Given the description of an element on the screen output the (x, y) to click on. 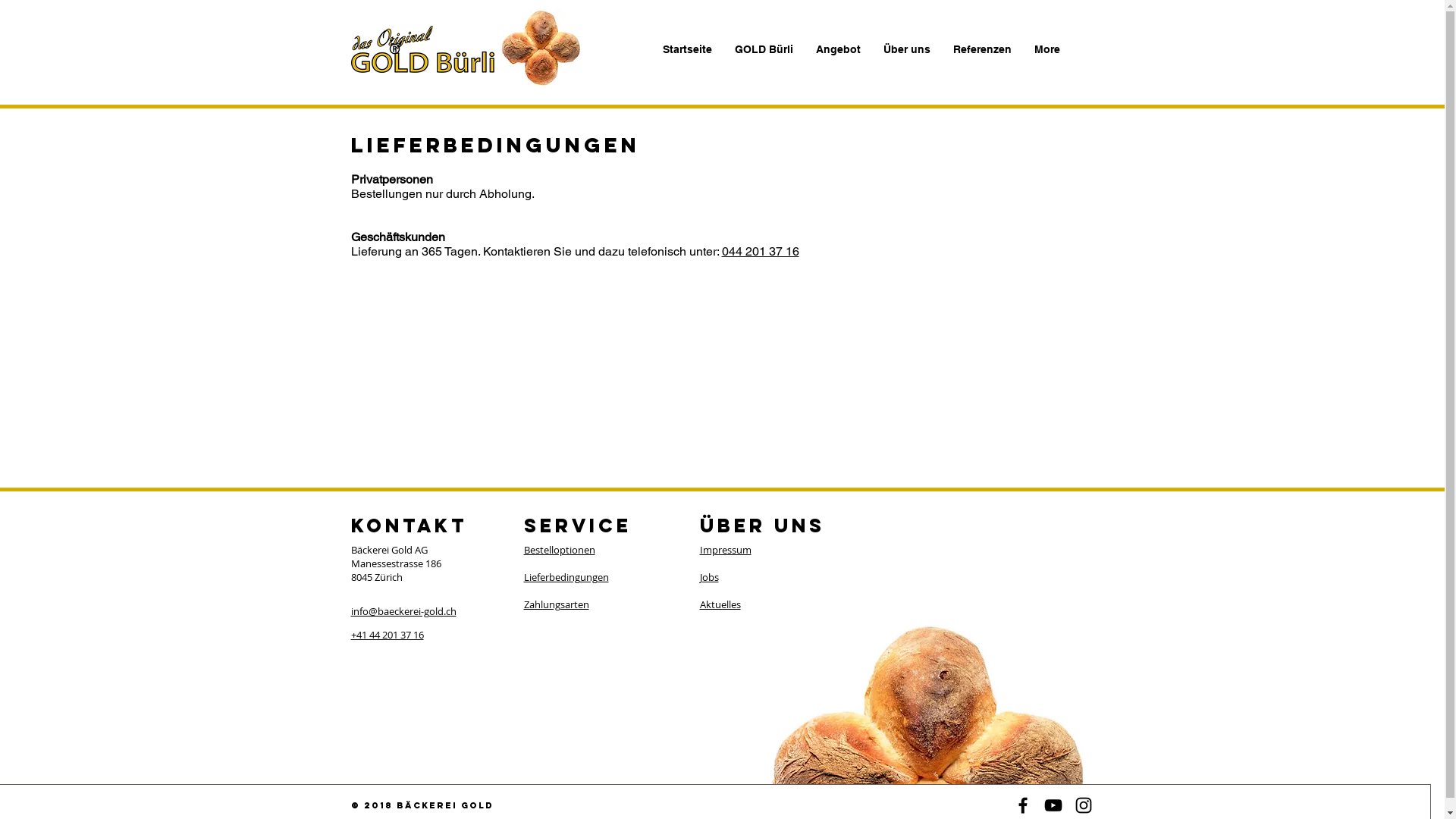
Startseite Element type: text (686, 49)
Impressum Element type: text (724, 549)
044 201 37 16 Element type: text (760, 251)
Angebot Element type: text (837, 49)
info@baeckerei-gold.ch Element type: text (402, 611)
Aktuelles Element type: text (719, 604)
Jobs Element type: text (708, 576)
Zahlungsarten Element type: text (555, 604)
Referenzen Element type: text (981, 49)
Bestelloptionen Element type: text (558, 549)
+41 44 201 37 16 Element type: text (386, 634)
Lieferbedingungen Element type: text (565, 576)
